Given the description of an element on the screen output the (x, y) to click on. 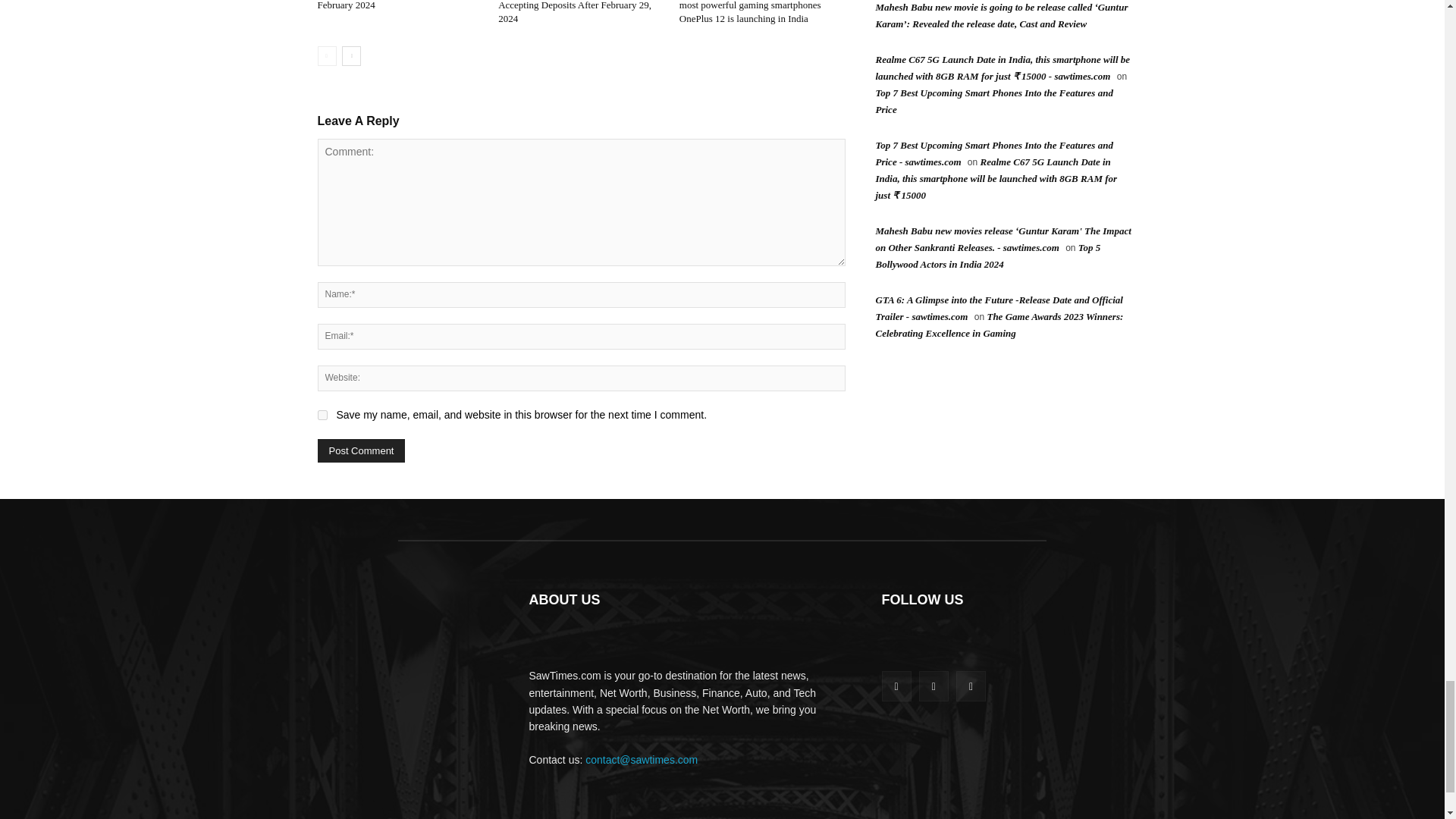
yes (321, 415)
Post Comment (360, 450)
